Given the description of an element on the screen output the (x, y) to click on. 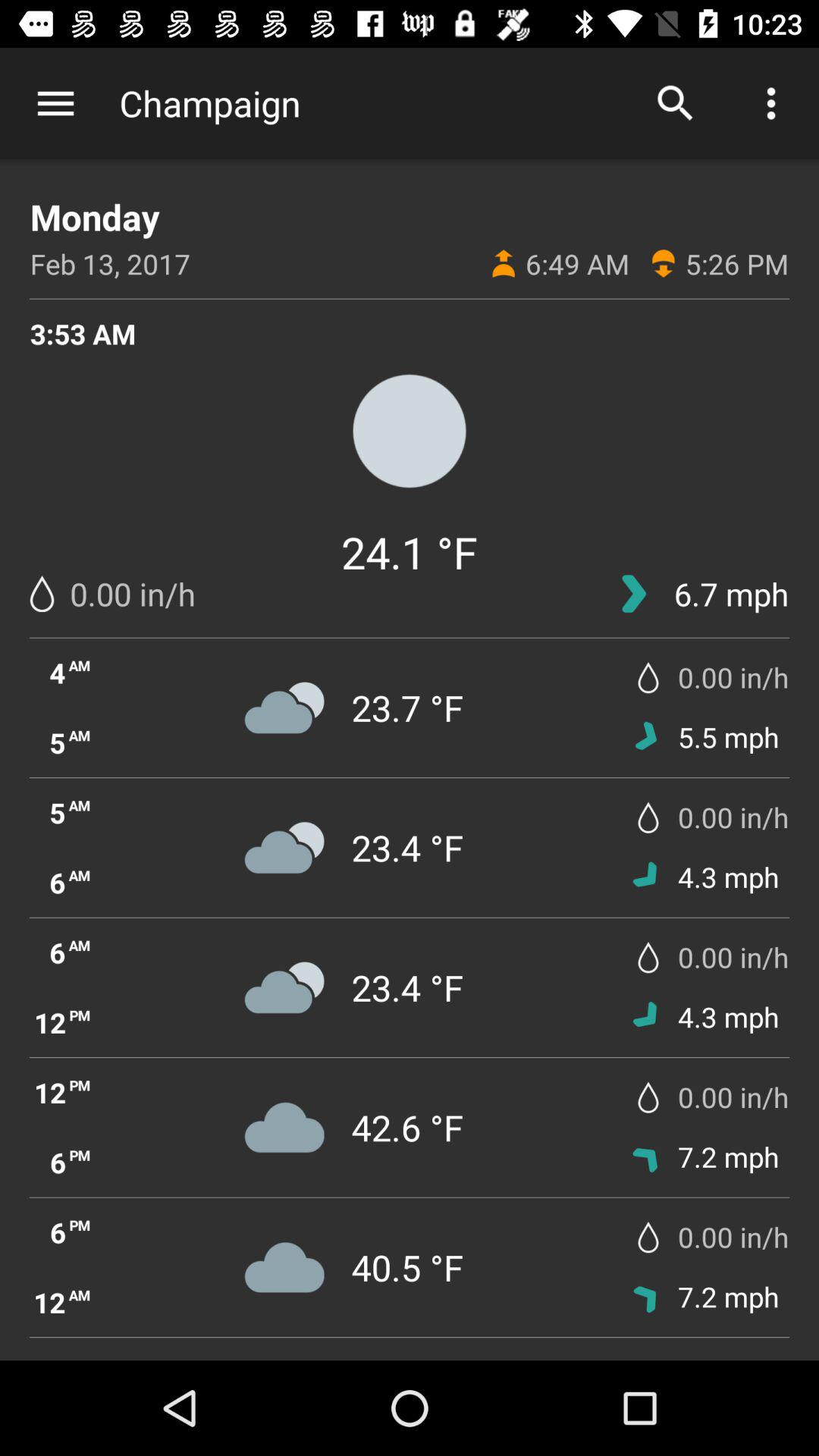
click the icon to the right of champaign app (675, 103)
